Given the description of an element on the screen output the (x, y) to click on. 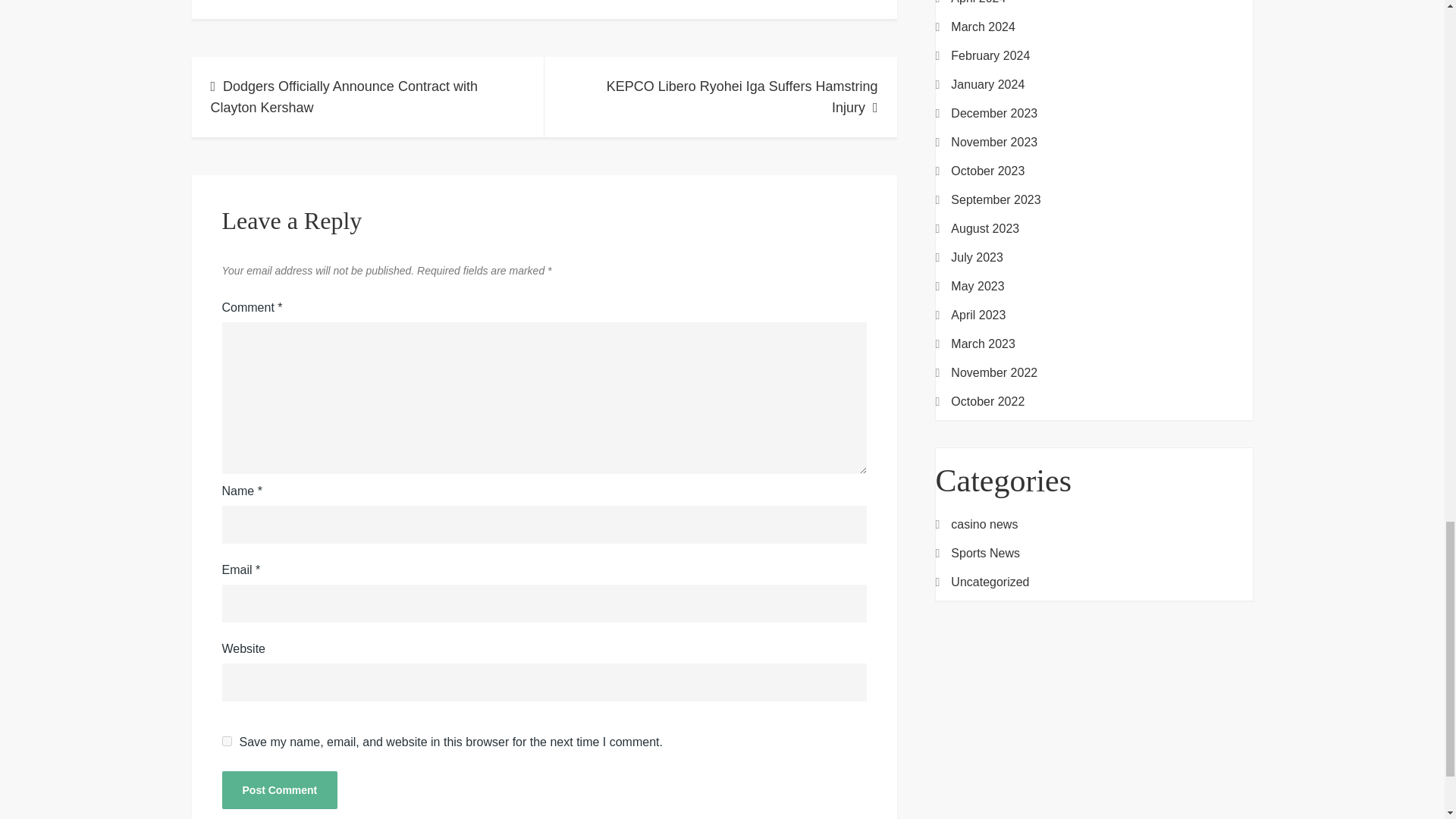
Post Comment (279, 790)
KEPCO Libero Ryohei Iga Suffers Hamstring Injury (720, 96)
yes (226, 741)
Post Comment (279, 790)
Dodgers Officially Announce Contract with Clayton Kershaw (366, 96)
